Given the description of an element on the screen output the (x, y) to click on. 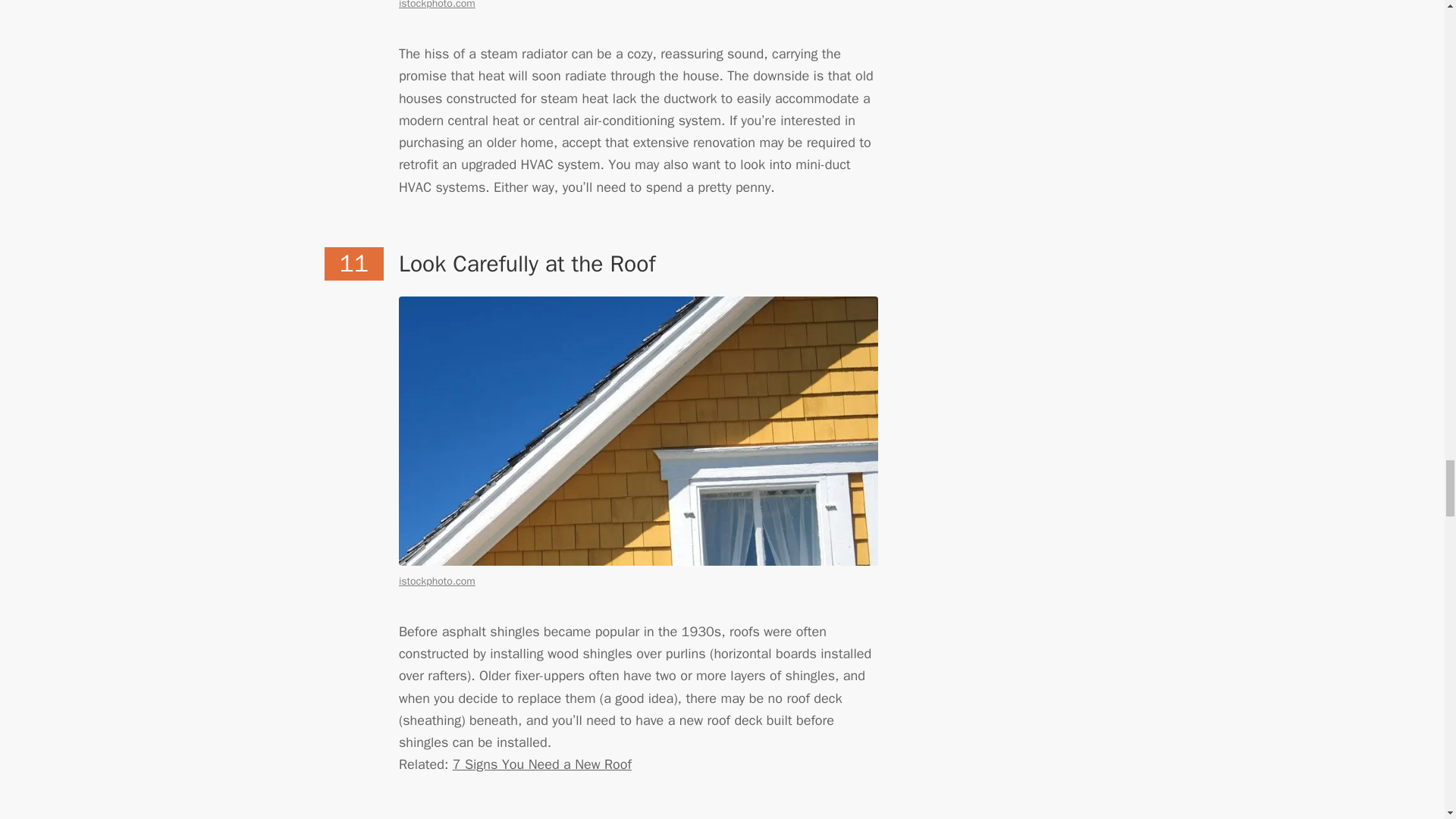
istockphoto.com (437, 581)
istockphoto.com (437, 4)
